Given the description of an element on the screen output the (x, y) to click on. 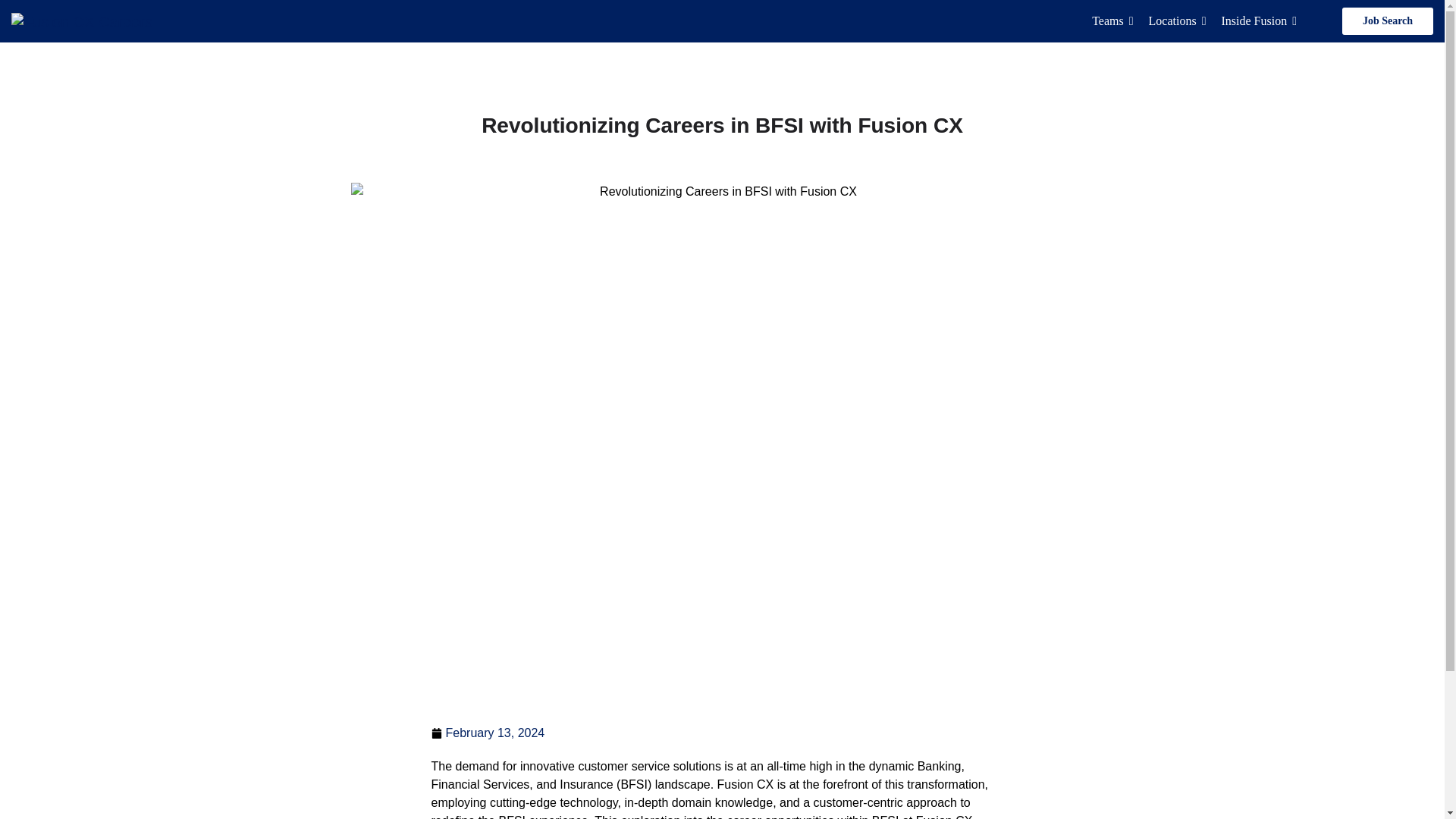
Job Search (1387, 21)
February 13, 2024 (487, 732)
Teams (1112, 20)
Locations (1177, 20)
Inside Fusion (1259, 20)
Fusion CX Careers (81, 21)
